Given the description of an element on the screen output the (x, y) to click on. 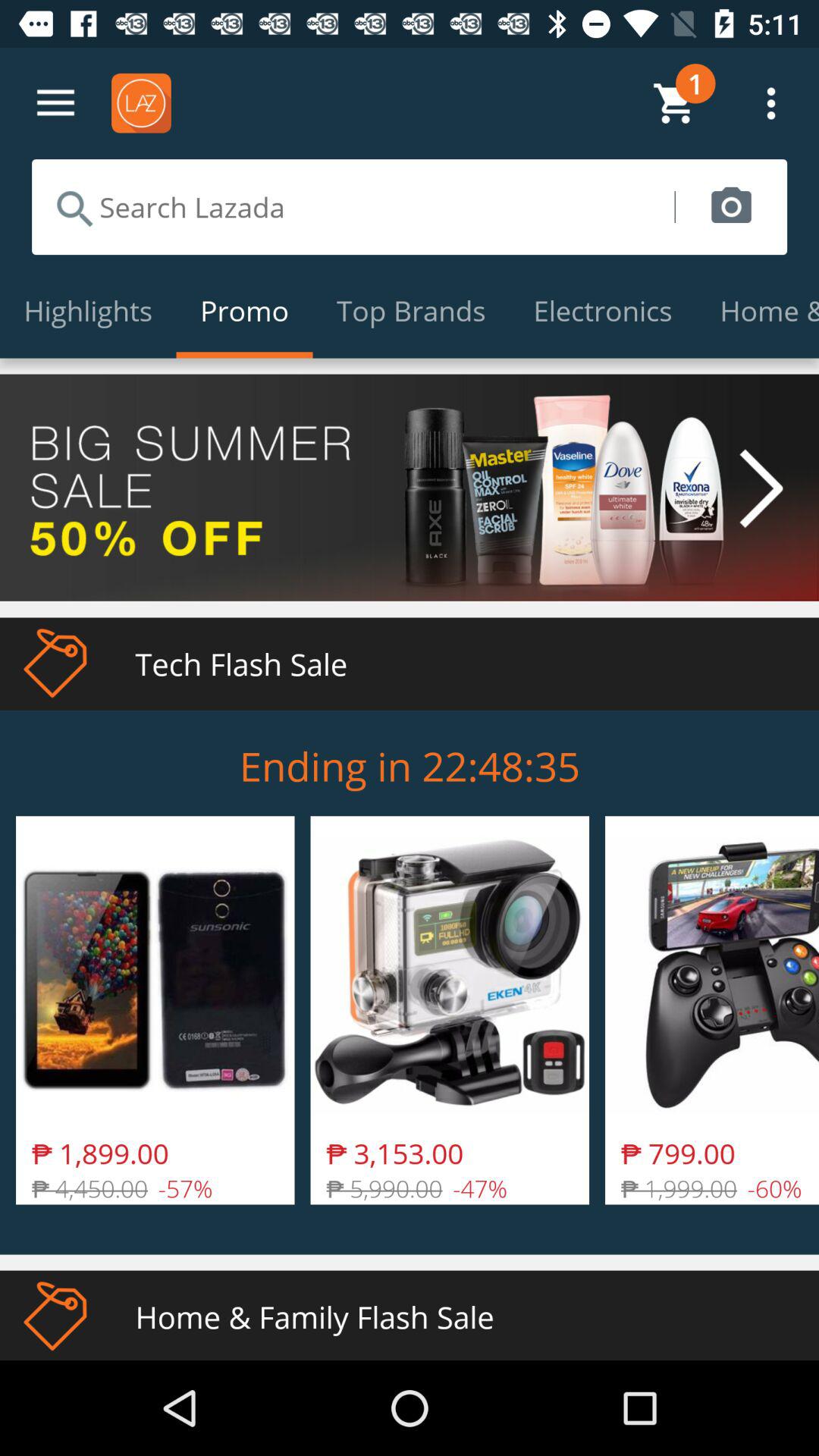
click icon above the highlights icon (352, 206)
